Given the description of an element on the screen output the (x, y) to click on. 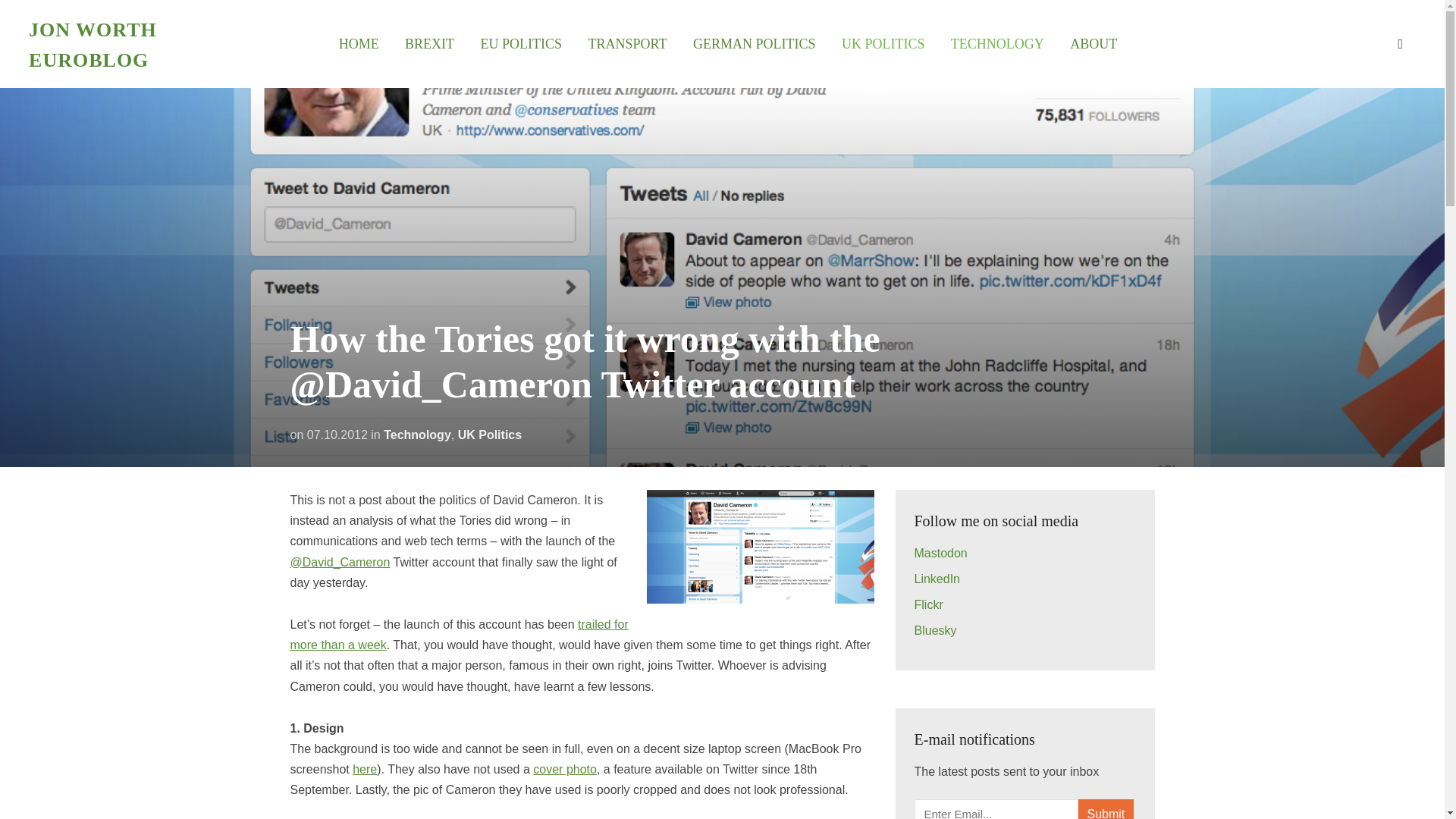
TECHNOLOGY (996, 43)
ABOUT (1093, 43)
TRANSPORT (627, 43)
GERMAN POLITICS (754, 43)
EU POLITICS (521, 43)
HOME (358, 43)
JON WORTH EUROBLOG (93, 44)
BREXIT (429, 43)
UK POLITICS (882, 43)
withspacer (1093, 43)
Screen Shot 2012-10-07 at 14.28.59 (759, 546)
Submit (1106, 809)
